Given the description of an element on the screen output the (x, y) to click on. 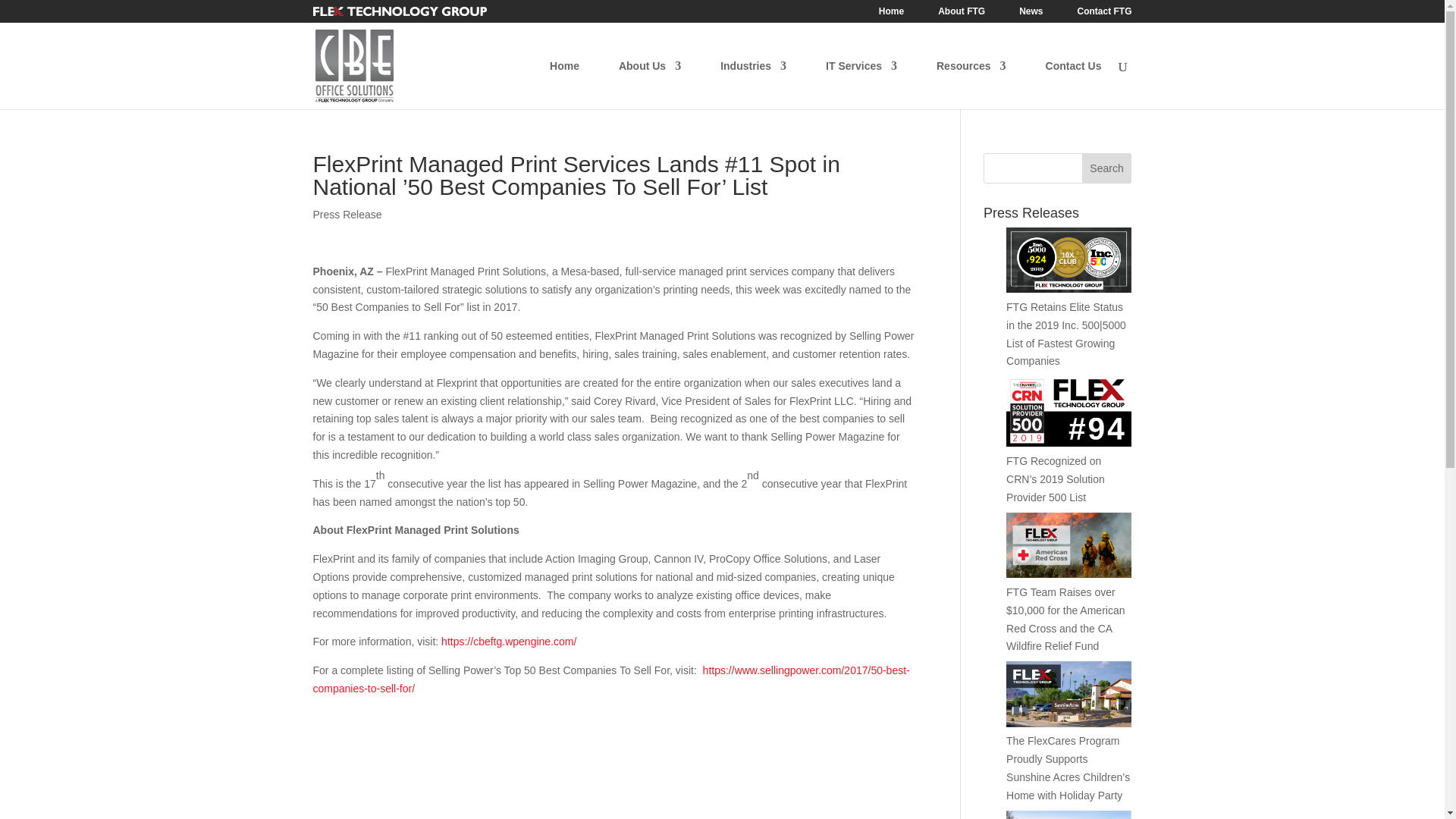
Search (1106, 168)
About Us (649, 84)
News (1030, 14)
Contact Us (1073, 84)
Home (891, 14)
IT Services (860, 84)
Contact FTG (1104, 14)
About FTG (961, 14)
Resources (971, 84)
Industries (753, 84)
